Given the description of an element on the screen output the (x, y) to click on. 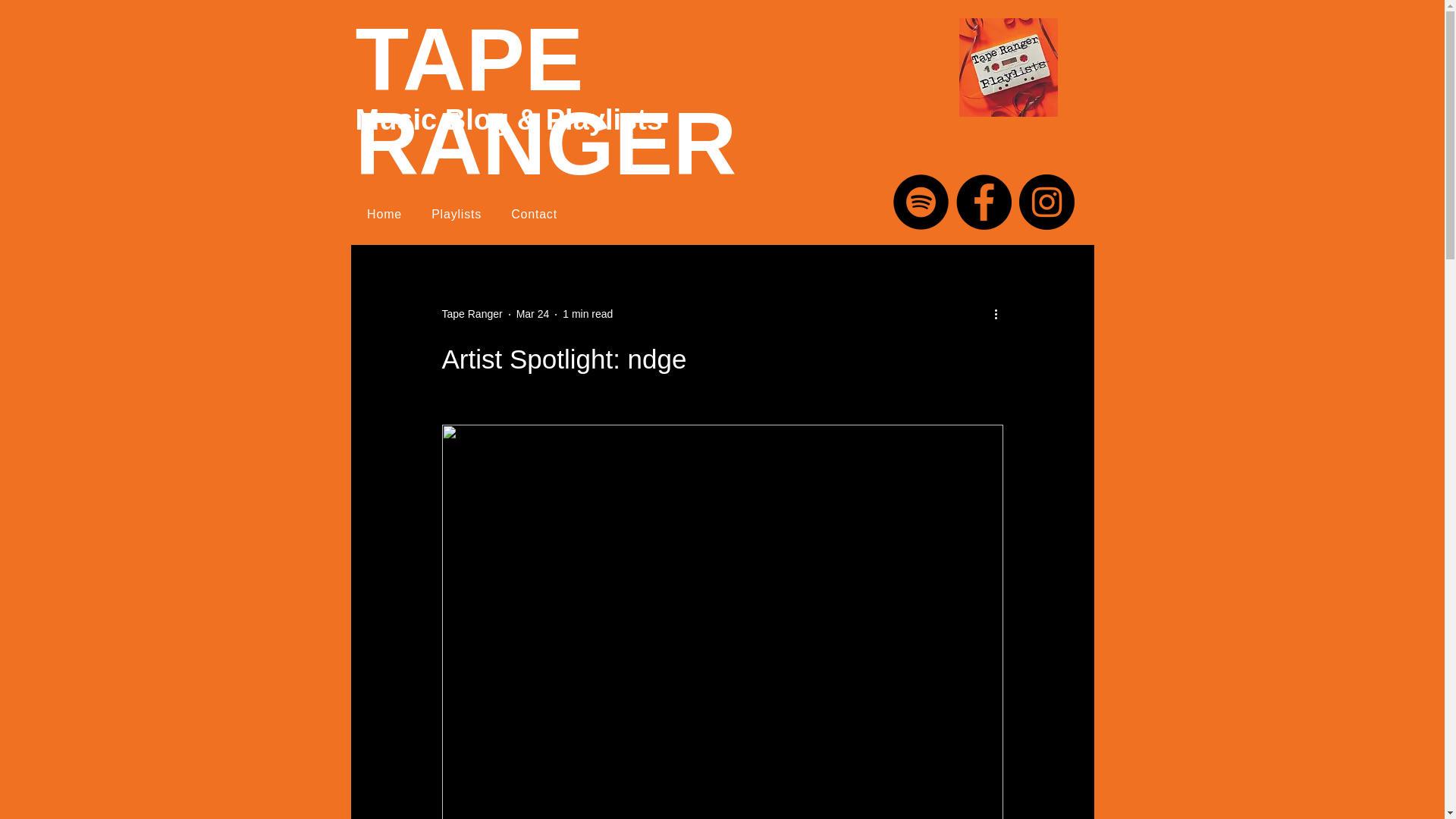
Playlists (456, 214)
Home (384, 214)
Tape Ranger  (471, 314)
Contact (534, 214)
1 min read (587, 313)
Mar 24 (533, 313)
